Given the description of an element on the screen output the (x, y) to click on. 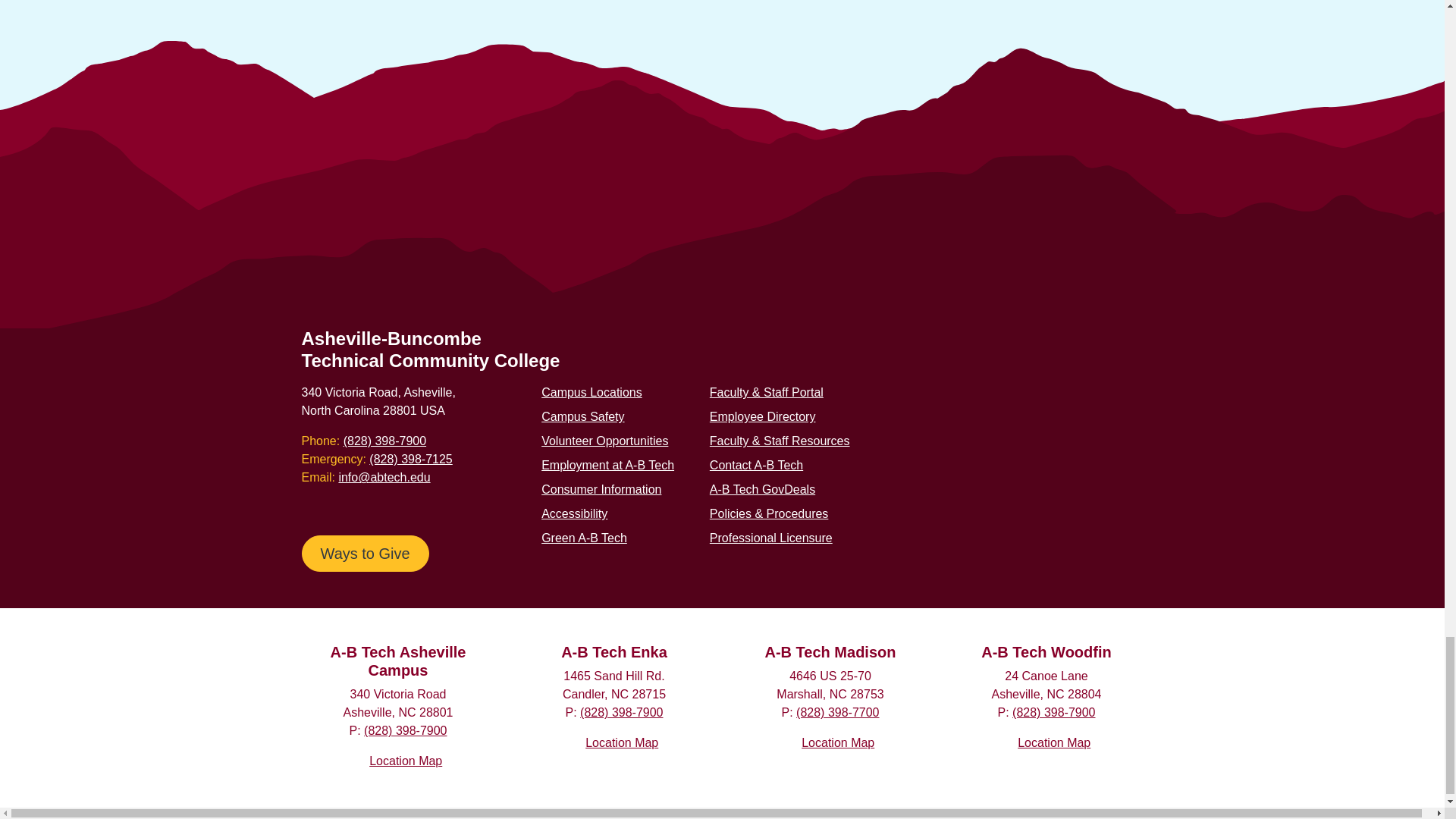
A-B Tech Woodfin Location Map (1053, 742)
Facebook (911, 550)
A-B Tech Asheville Location Map (405, 760)
Youtube (886, 550)
A-B Tech Madison Location Map (838, 742)
A-B Tech Enka Location Map (621, 742)
Instagram (959, 550)
Linkedin (983, 550)
Twitter (935, 550)
